Given the description of an element on the screen output the (x, y) to click on. 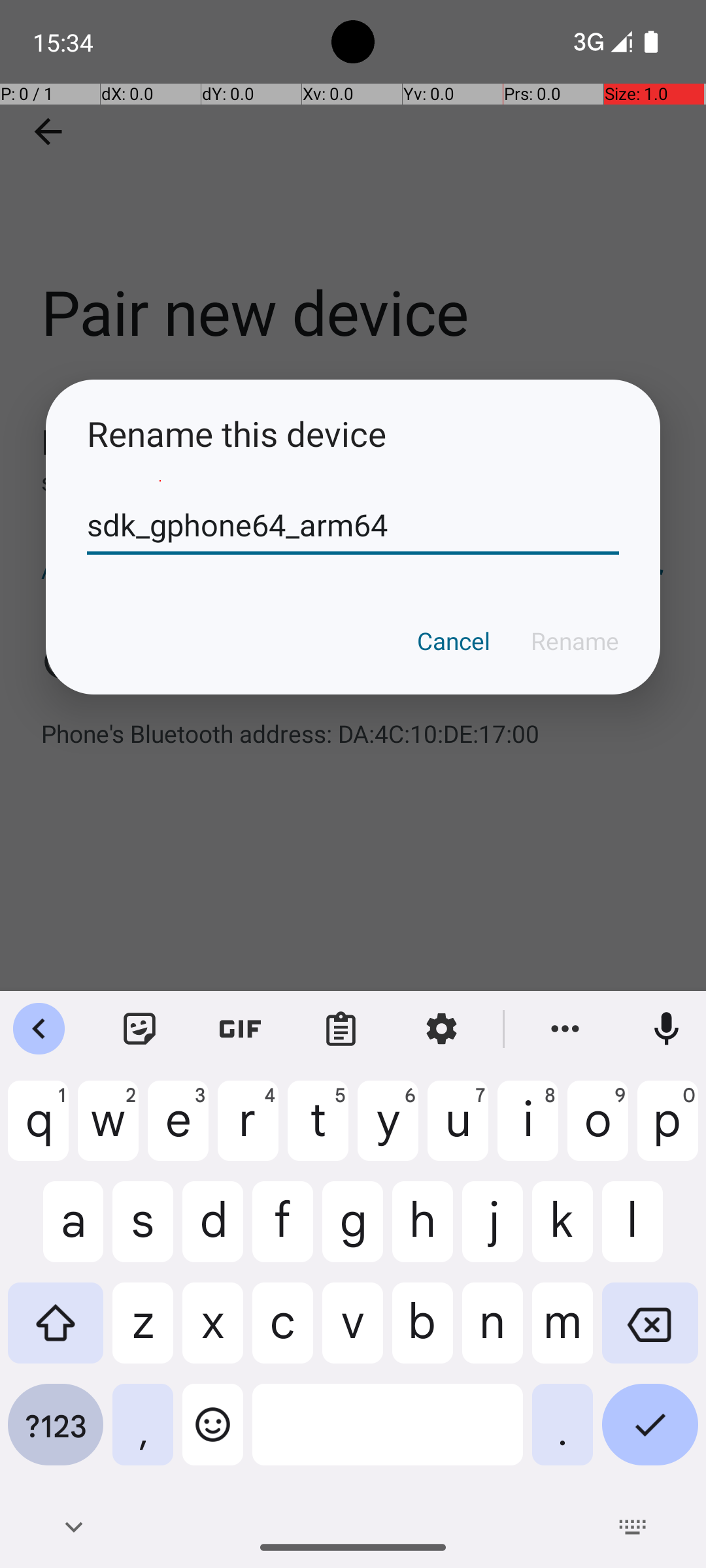
Rename this device Element type: android.widget.TextView (352, 433)
Rename Element type: android.widget.Button (574, 640)
